Given the description of an element on the screen output the (x, y) to click on. 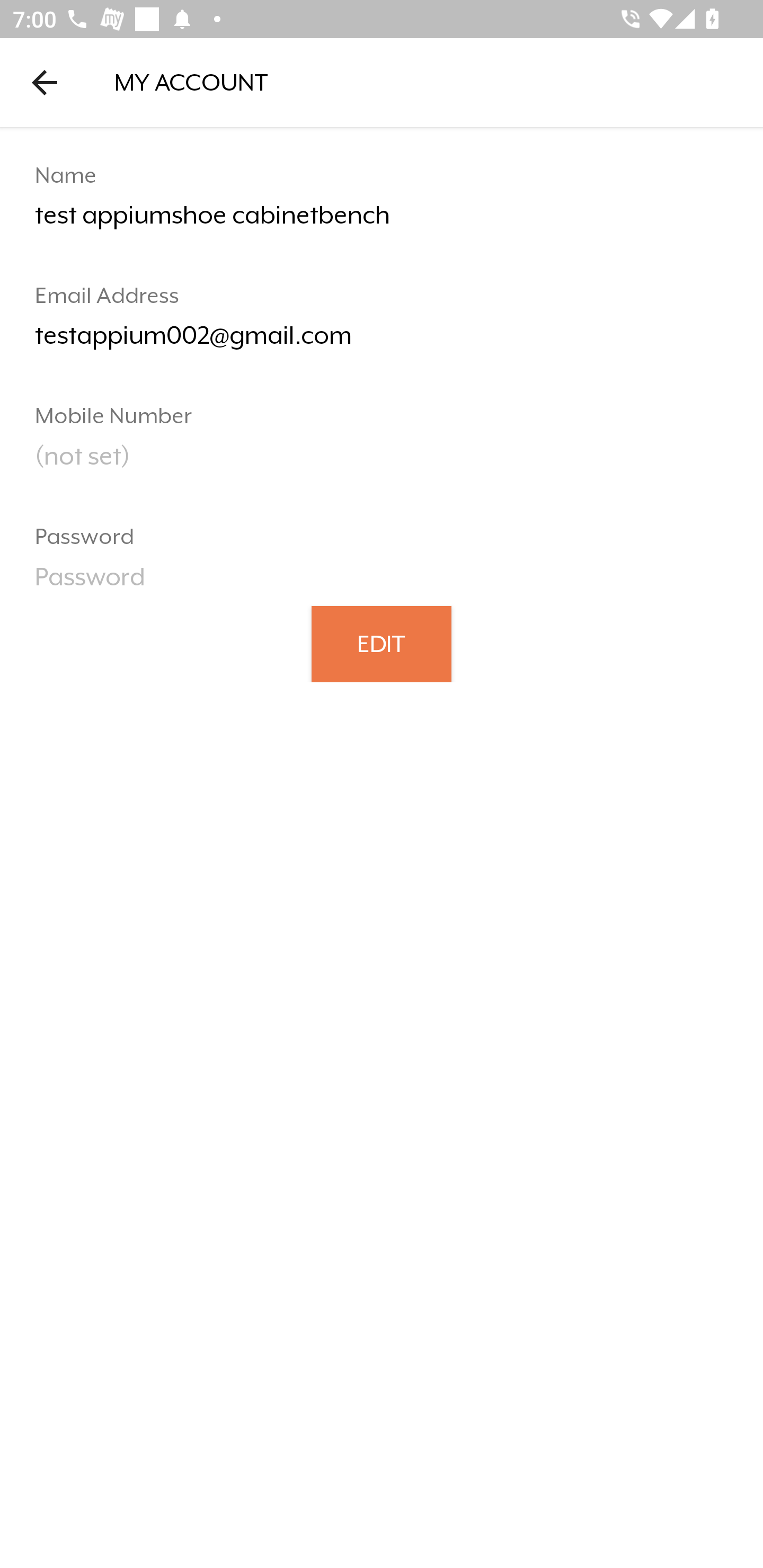
Navigate up (44, 82)
test appiumshoe cabinetbench (381, 222)
testappium002@gmail.com (381, 342)
Password (381, 583)
EDIT (381, 643)
